Given the description of an element on the screen output the (x, y) to click on. 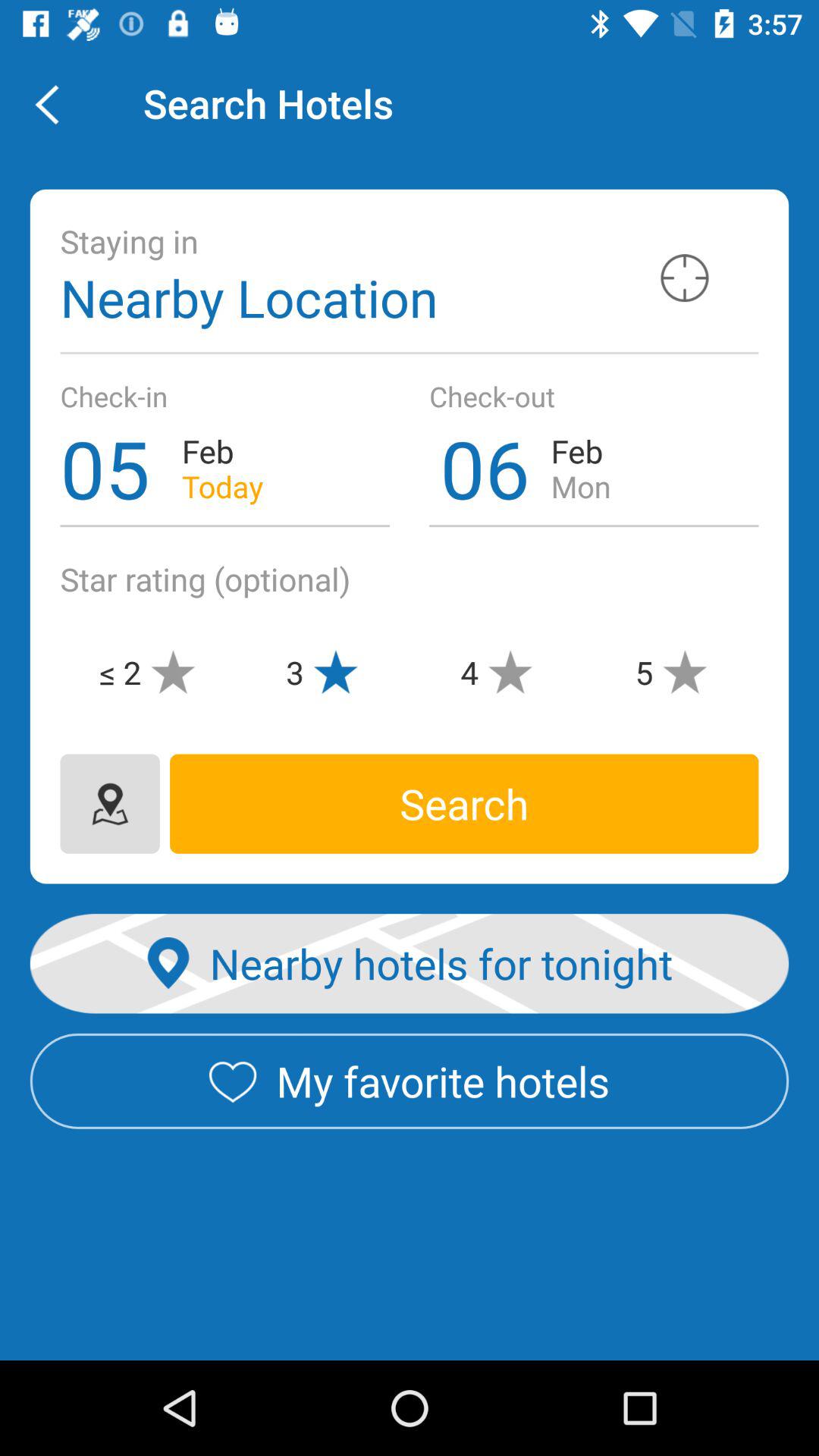
change location (109, 803)
